Given the description of an element on the screen output the (x, y) to click on. 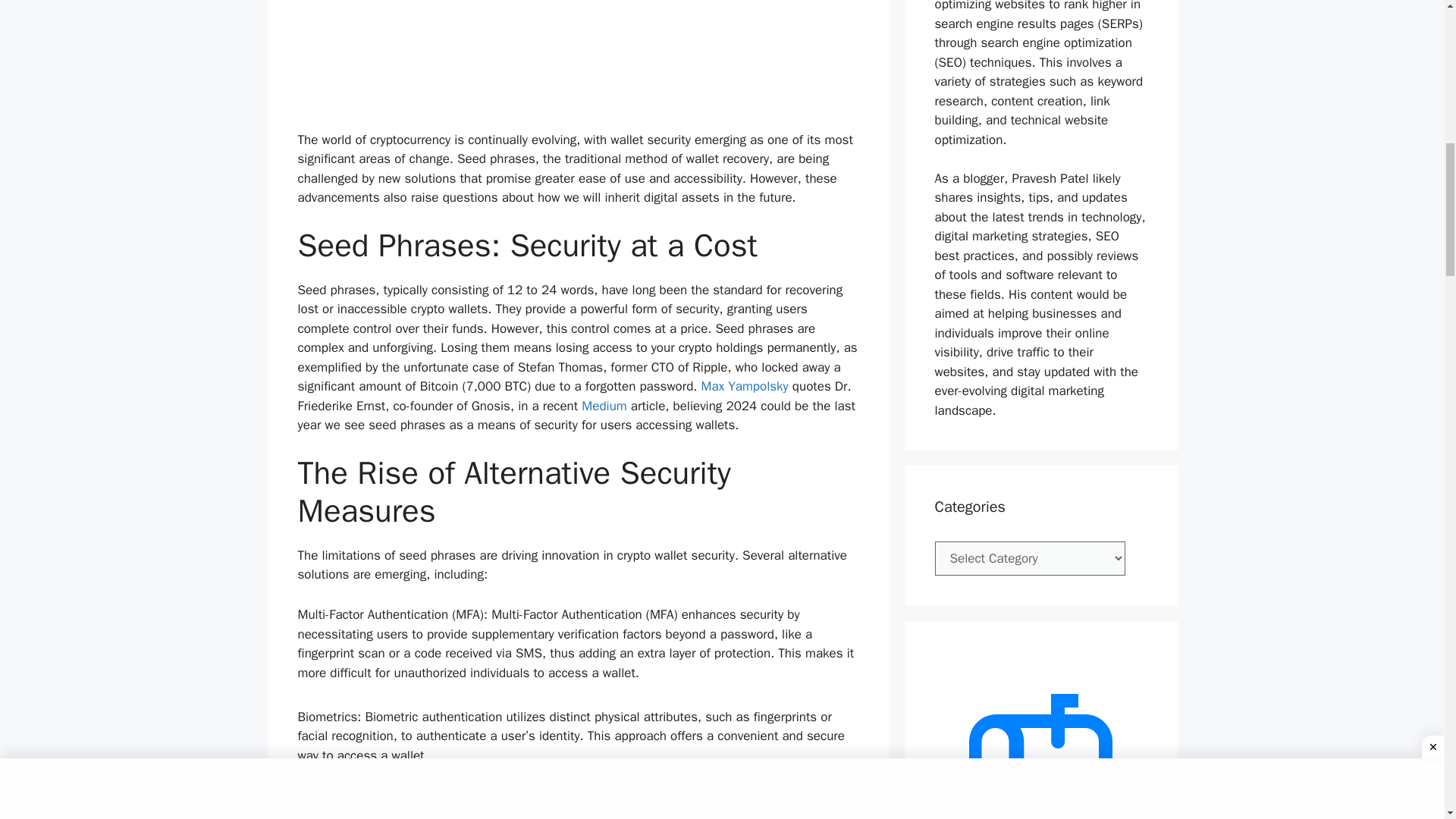
Advertisement (578, 65)
Medium (603, 406)
Max Yampolsky (745, 385)
